Given the description of an element on the screen output the (x, y) to click on. 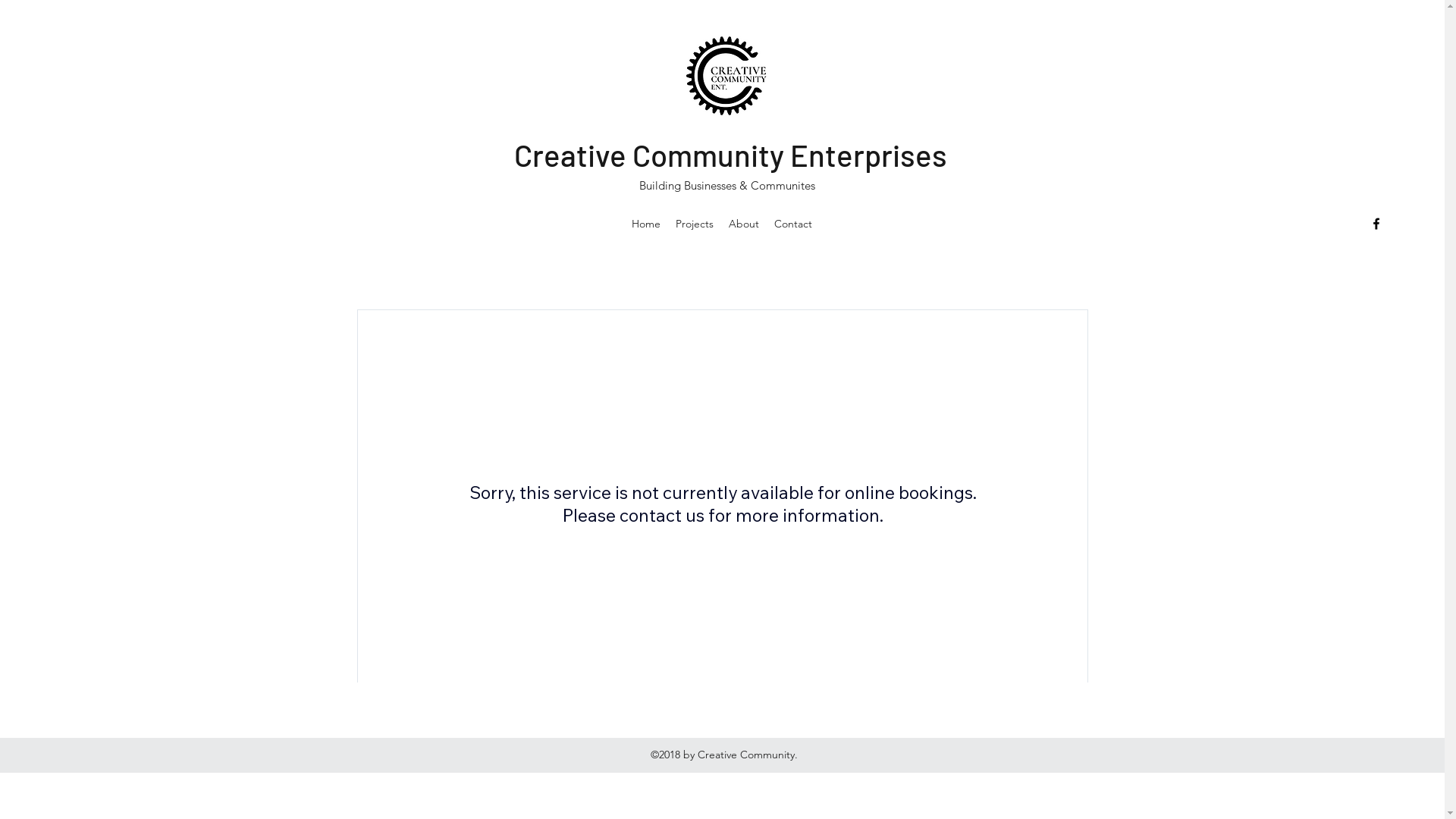
Home Element type: text (646, 223)
Projects Element type: text (694, 223)
About Element type: text (743, 223)
Bookings Checkout Element type: hover (721, 492)
Creative Community Enterprises Element type: text (730, 154)
Contact Element type: text (792, 223)
